Given the description of an element on the screen output the (x, y) to click on. 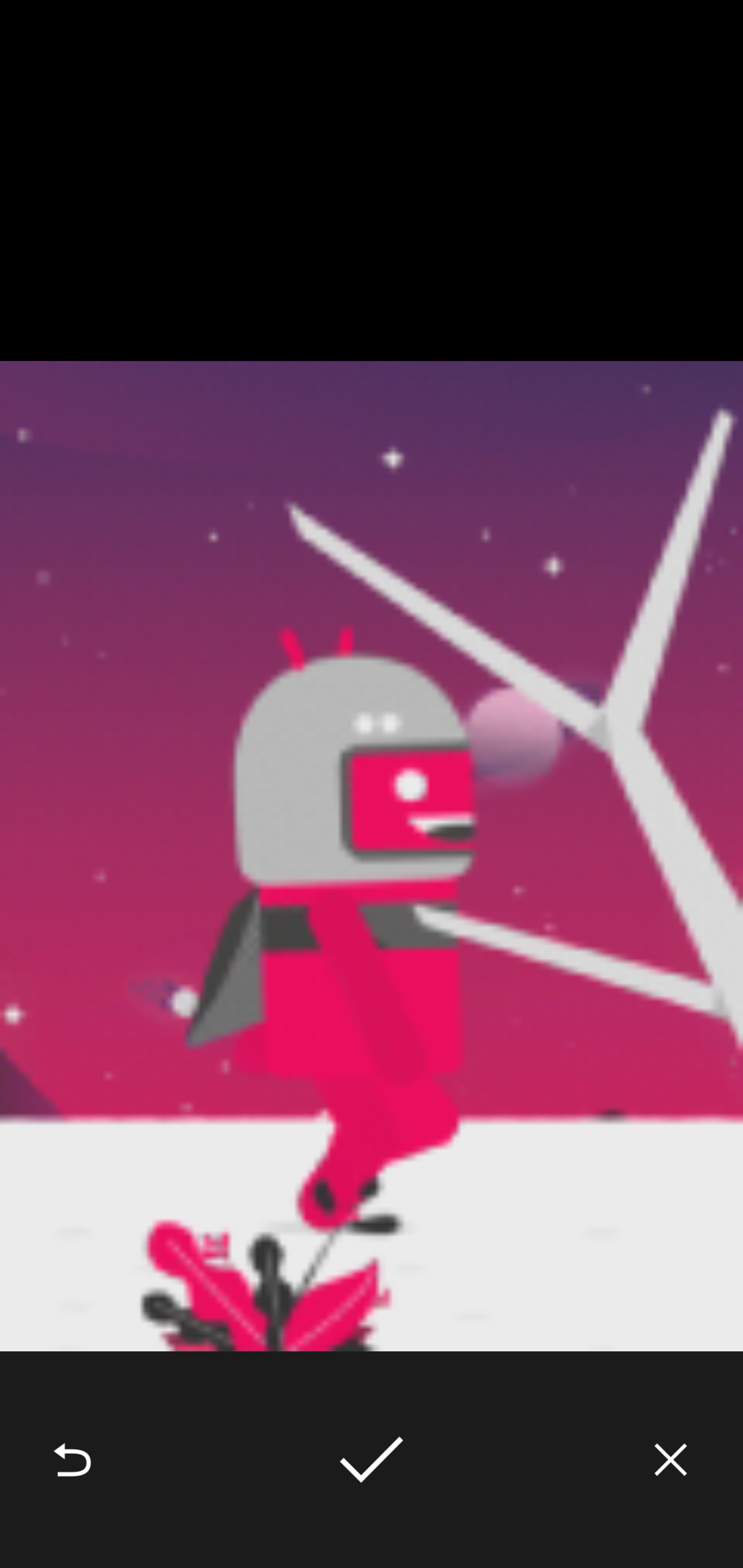
Done (371, 1459)
Retake (72, 1459)
Cancel (670, 1459)
